Given the description of an element on the screen output the (x, y) to click on. 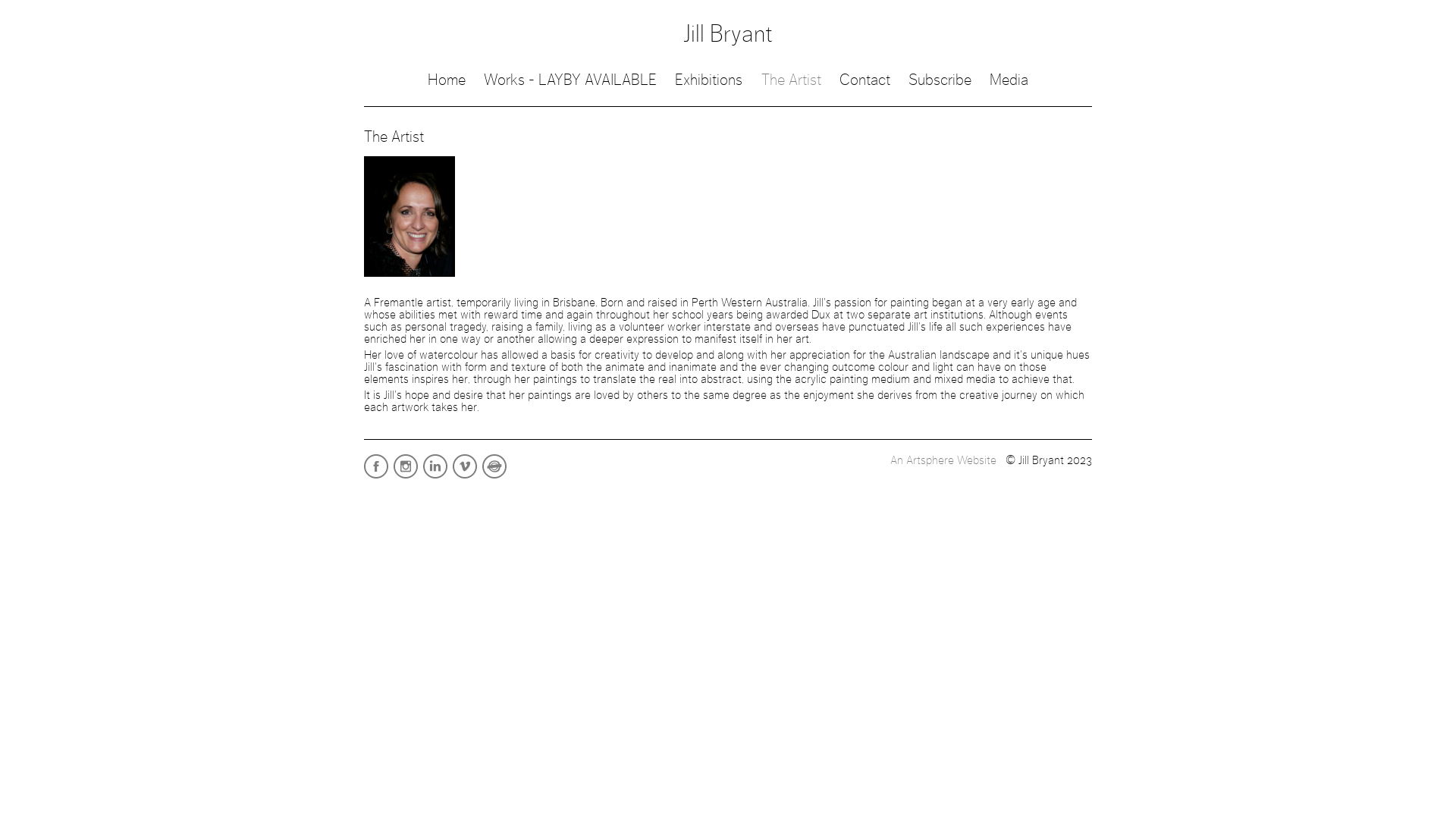
Home Element type: text (446, 79)
LinkedIn Element type: hover (436, 477)
Vimeo Element type: hover (465, 477)
Subscribe Element type: text (939, 79)
The Artist Element type: text (791, 79)
Works - LAYBY AVAILABLE Element type: text (569, 79)
Instagram Element type: hover (406, 477)
Contact Element type: text (864, 79)
Bluethumb Element type: hover (495, 477)
Facebook Element type: hover (377, 477)
Exhibitions Element type: text (708, 79)
Media Element type: text (1008, 79)
An Artsphere Website Element type: text (943, 460)
